Given the description of an element on the screen output the (x, y) to click on. 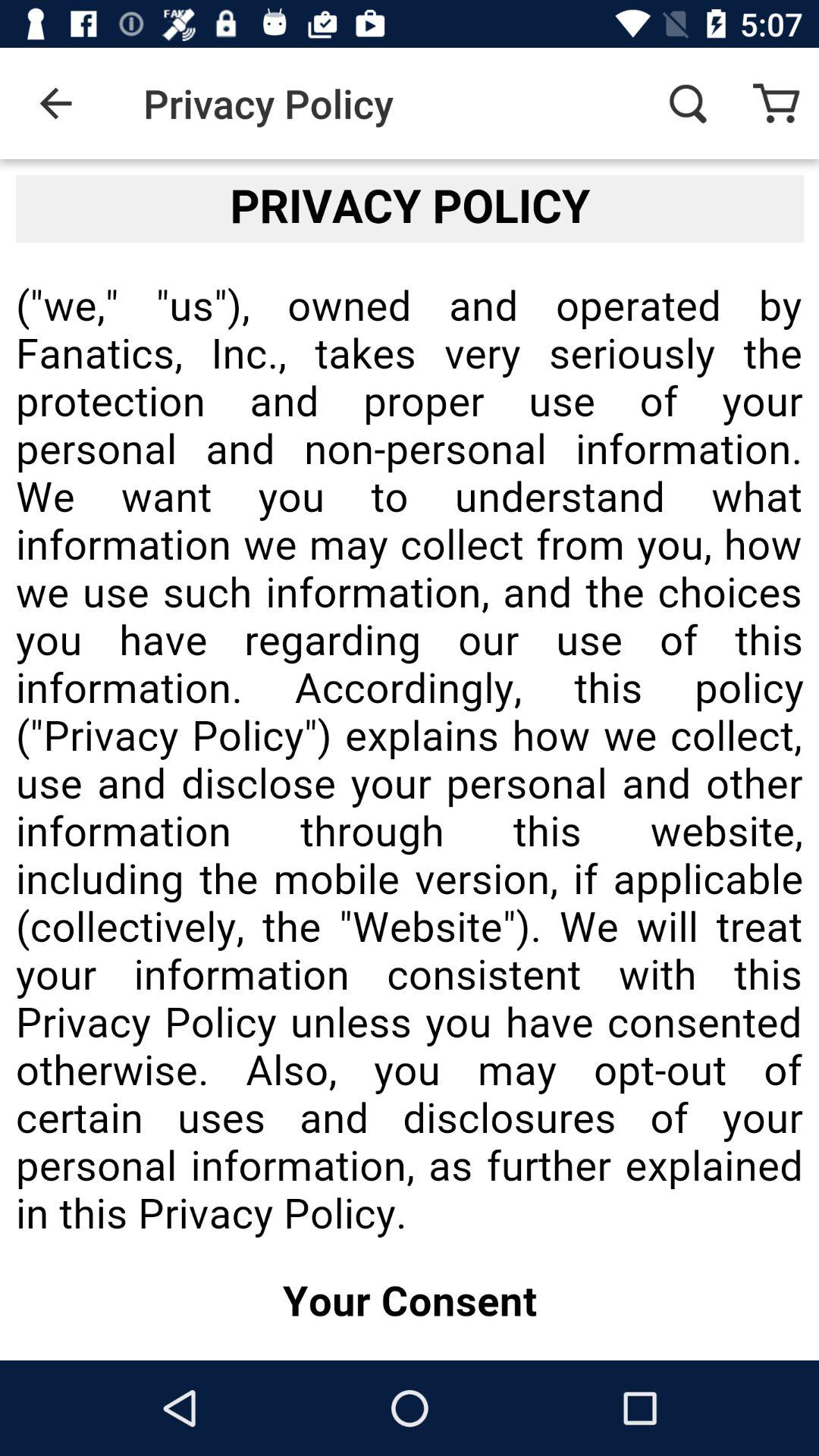
select item next to privacy policy item (687, 103)
